Given the description of an element on the screen output the (x, y) to click on. 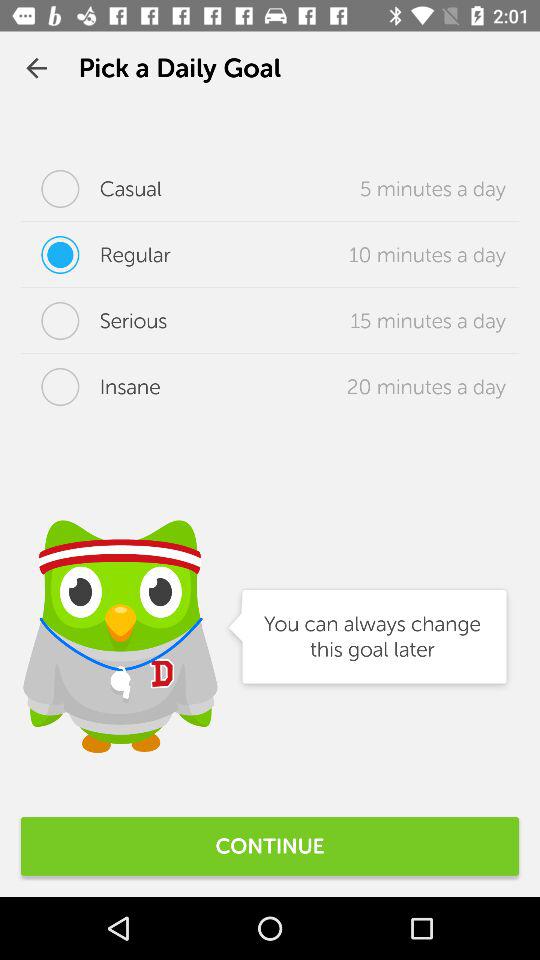
select item to the left of 15 minutes a (94, 321)
